Given the description of an element on the screen output the (x, y) to click on. 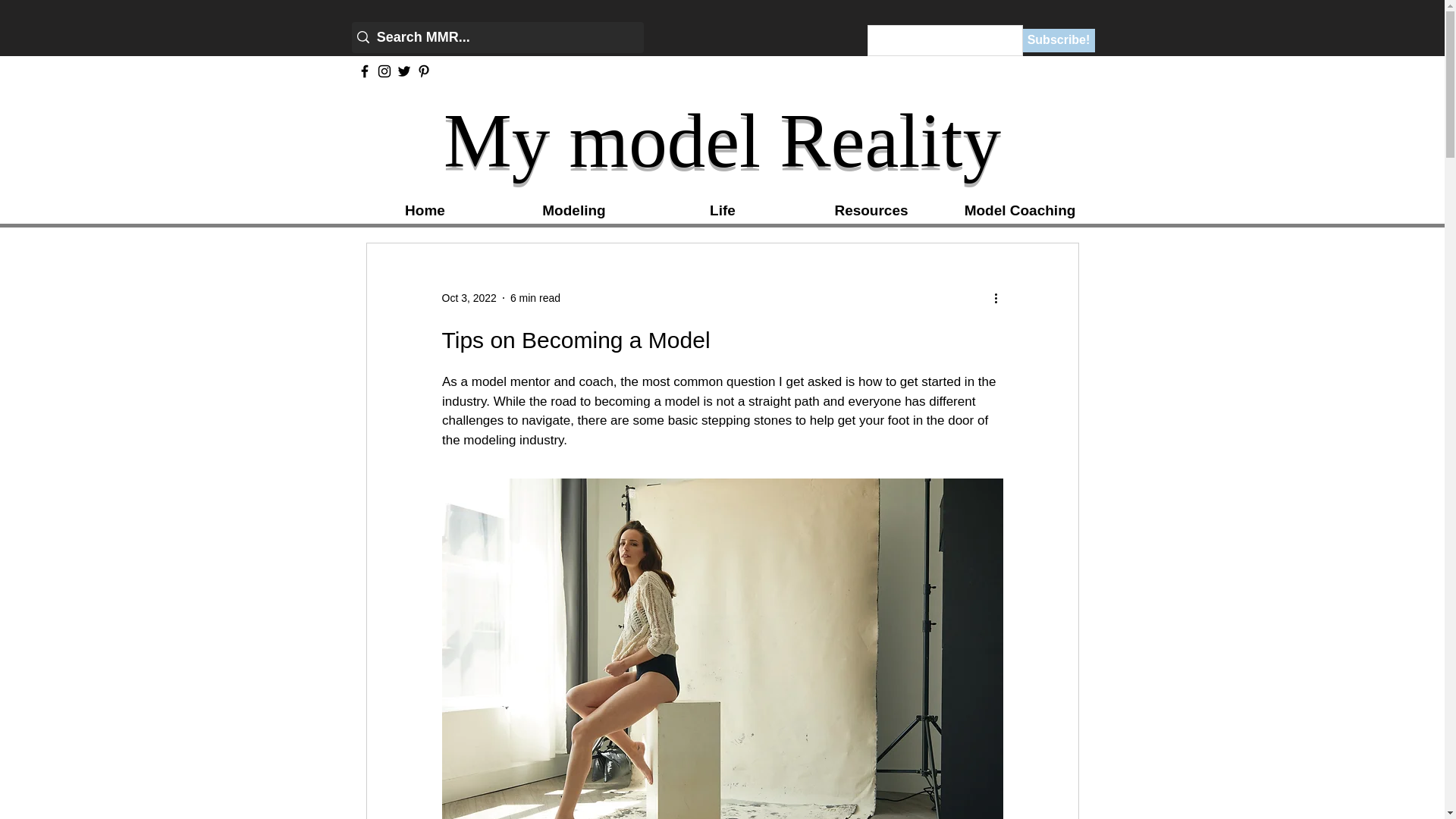
Subscribe! (1058, 40)
My model Reality (722, 139)
Oct 3, 2022 (468, 297)
Life (722, 210)
Modeling (573, 210)
6 min read (535, 297)
Model Coaching (1020, 210)
Resources (870, 210)
Home (424, 210)
